Given the description of an element on the screen output the (x, y) to click on. 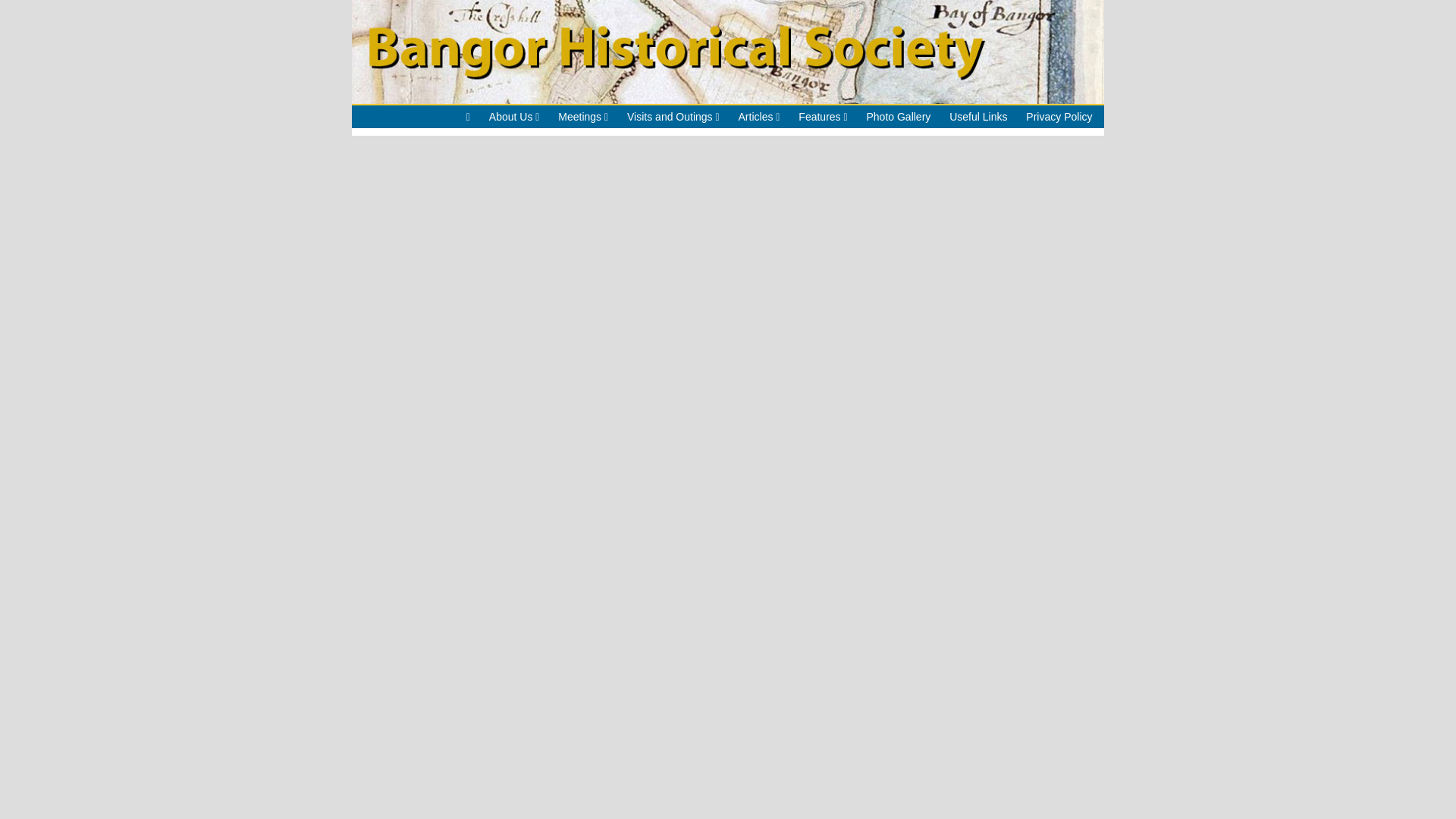
Features (822, 116)
Articles (759, 116)
Visits and Outings (673, 116)
Privacy Policy (1059, 116)
Photo Gallery (898, 116)
About Us (514, 116)
Useful Links (978, 116)
Meetings (582, 116)
